Given the description of an element on the screen output the (x, y) to click on. 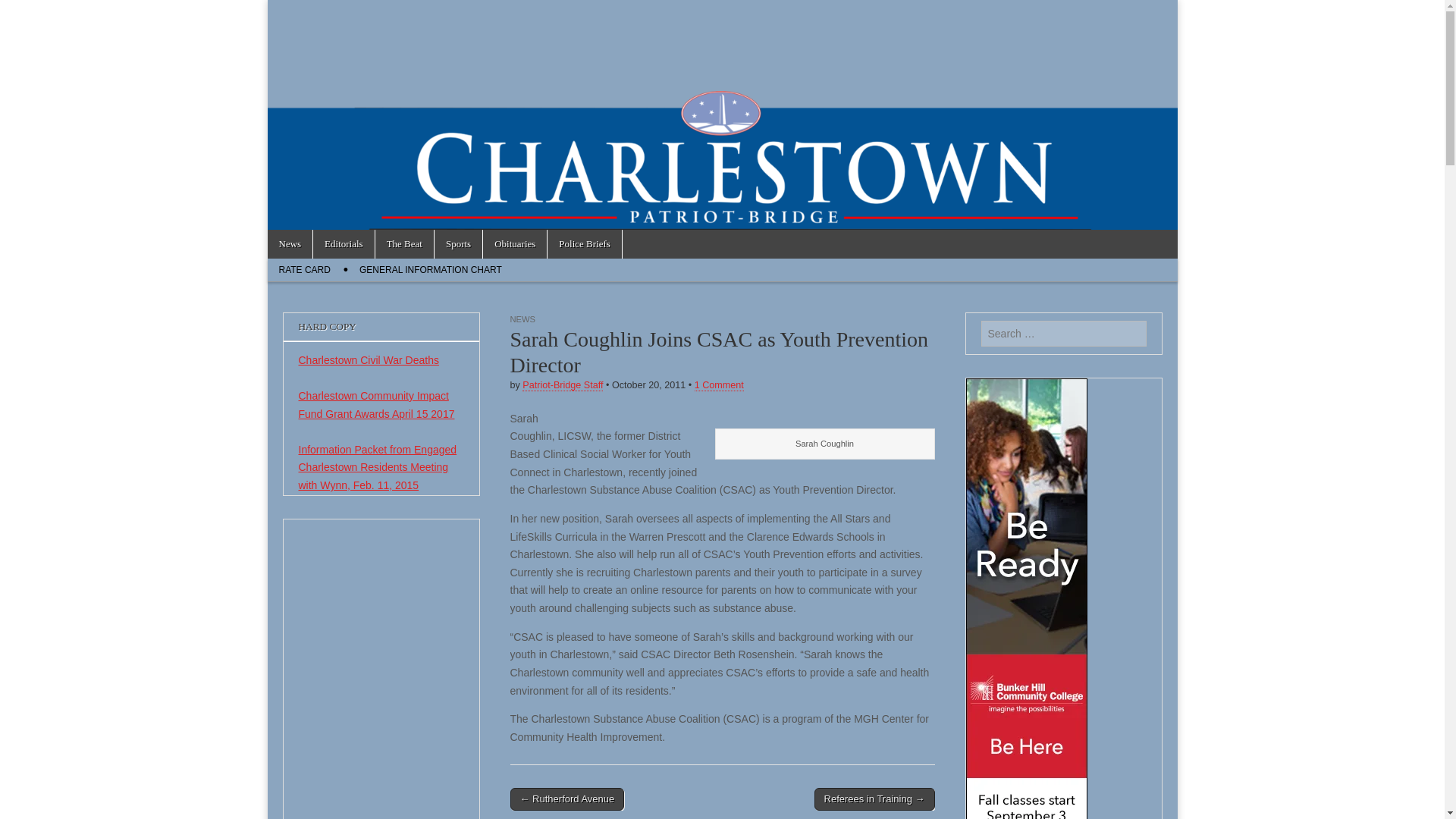
Charlestown Community Impact Fund Grant Awards April 15 2017 (376, 404)
Police Briefs (584, 244)
NEWS (522, 318)
News (289, 244)
RATE CARD (303, 269)
Obituaries (515, 244)
Posts by Patriot-Bridge Staff (562, 385)
Search (23, 12)
Patriot-Bridge Staff (562, 385)
Editorials (343, 244)
Charlestown Civil War Deaths (368, 359)
1 Comment (719, 385)
